Given the description of an element on the screen output the (x, y) to click on. 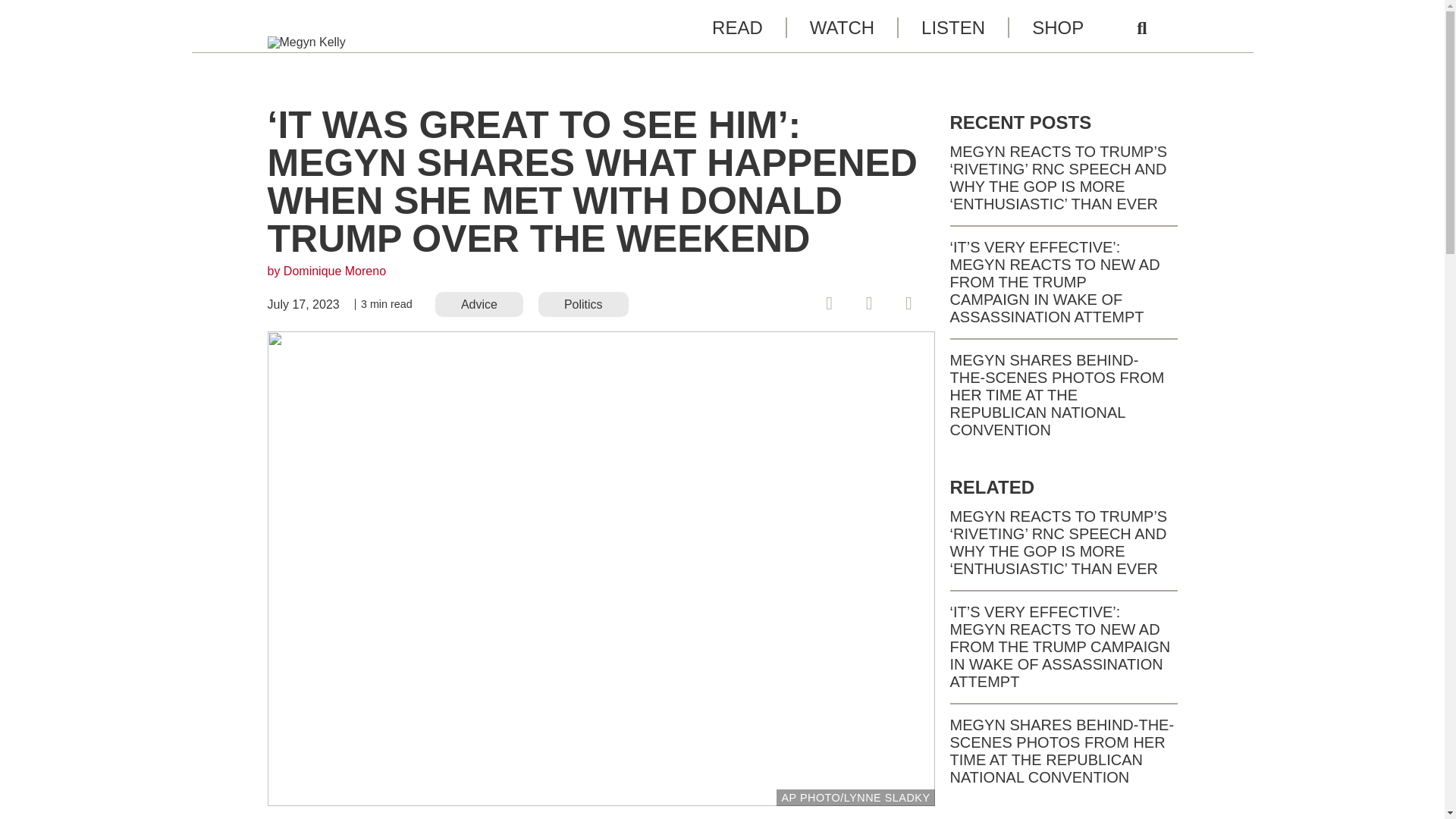
Politics (583, 303)
by Dominique Moreno (325, 270)
READ (737, 27)
July 17, 2023 (302, 304)
Advice (478, 303)
WATCH (841, 27)
SHOP (1056, 27)
LISTEN (951, 27)
